Given the description of an element on the screen output the (x, y) to click on. 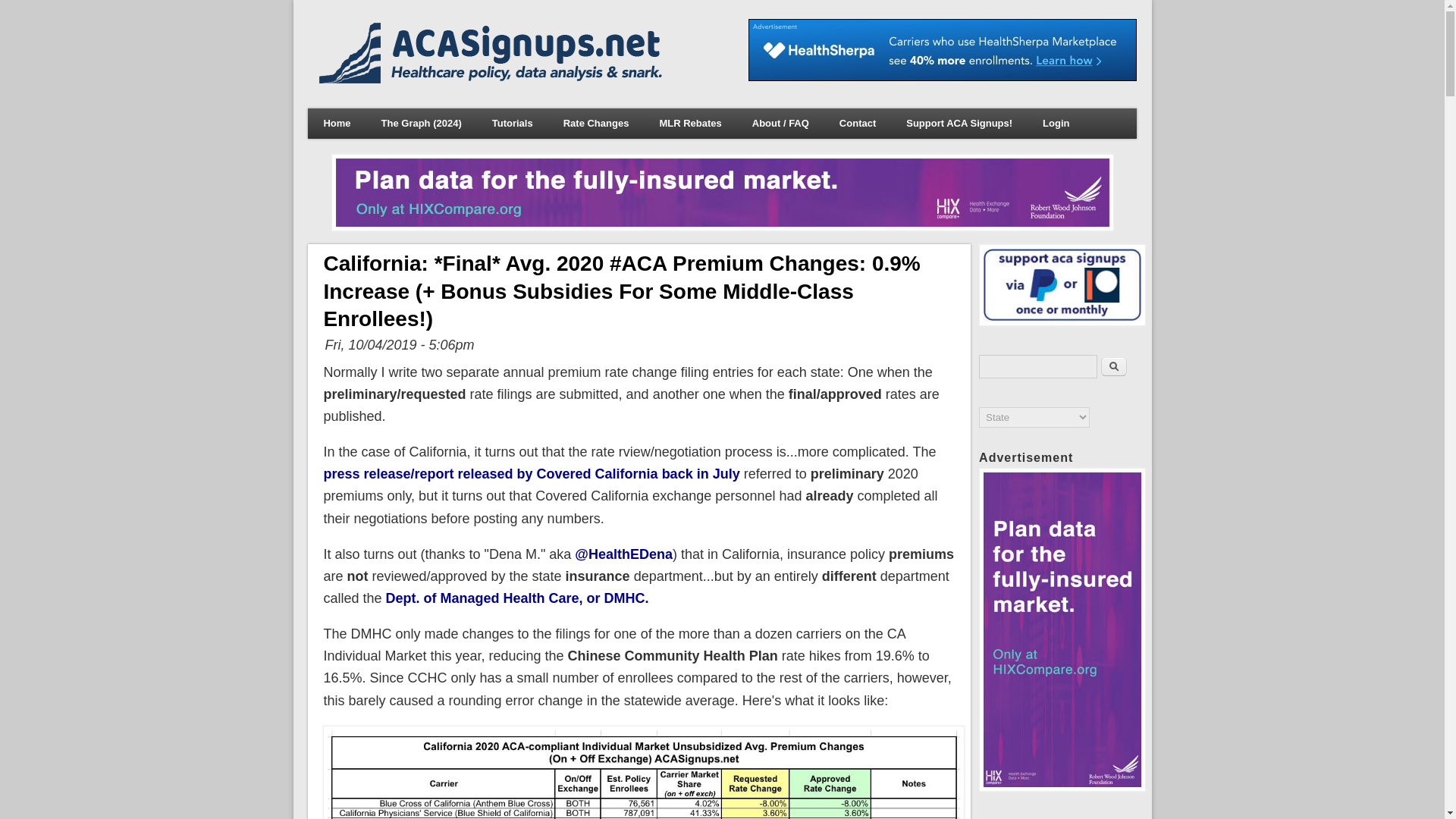
Home (493, 78)
Search (1113, 366)
Home (336, 123)
Contact (857, 123)
Rate Changes (596, 123)
Tutorials (512, 123)
MLR Rebates (689, 123)
